Given the description of an element on the screen output the (x, y) to click on. 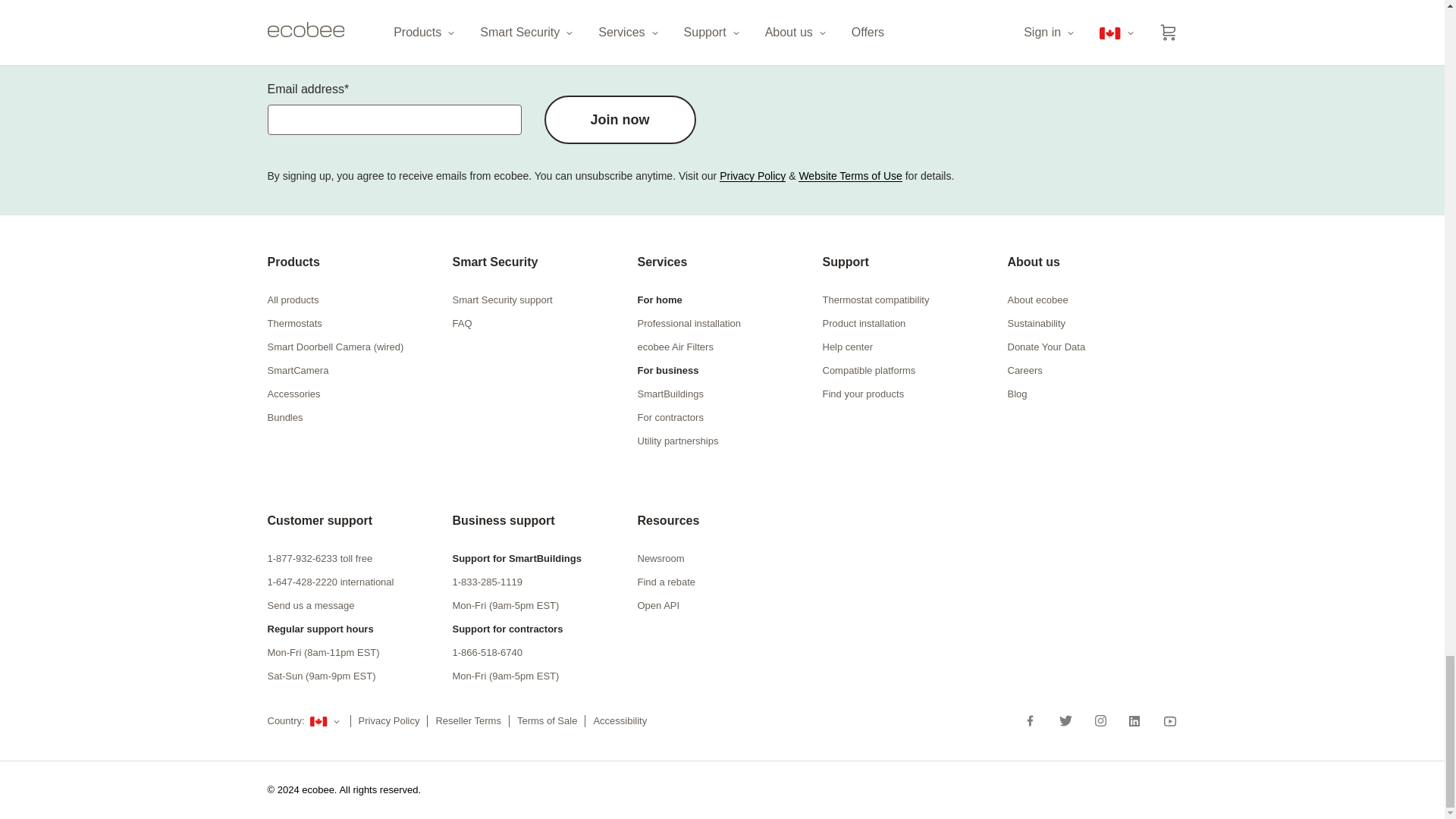
Twitter (1065, 719)
Facebook (1035, 719)
LinkedIn (1134, 719)
YouTube (1164, 719)
Instagram (1099, 719)
